Given the description of an element on the screen output the (x, y) to click on. 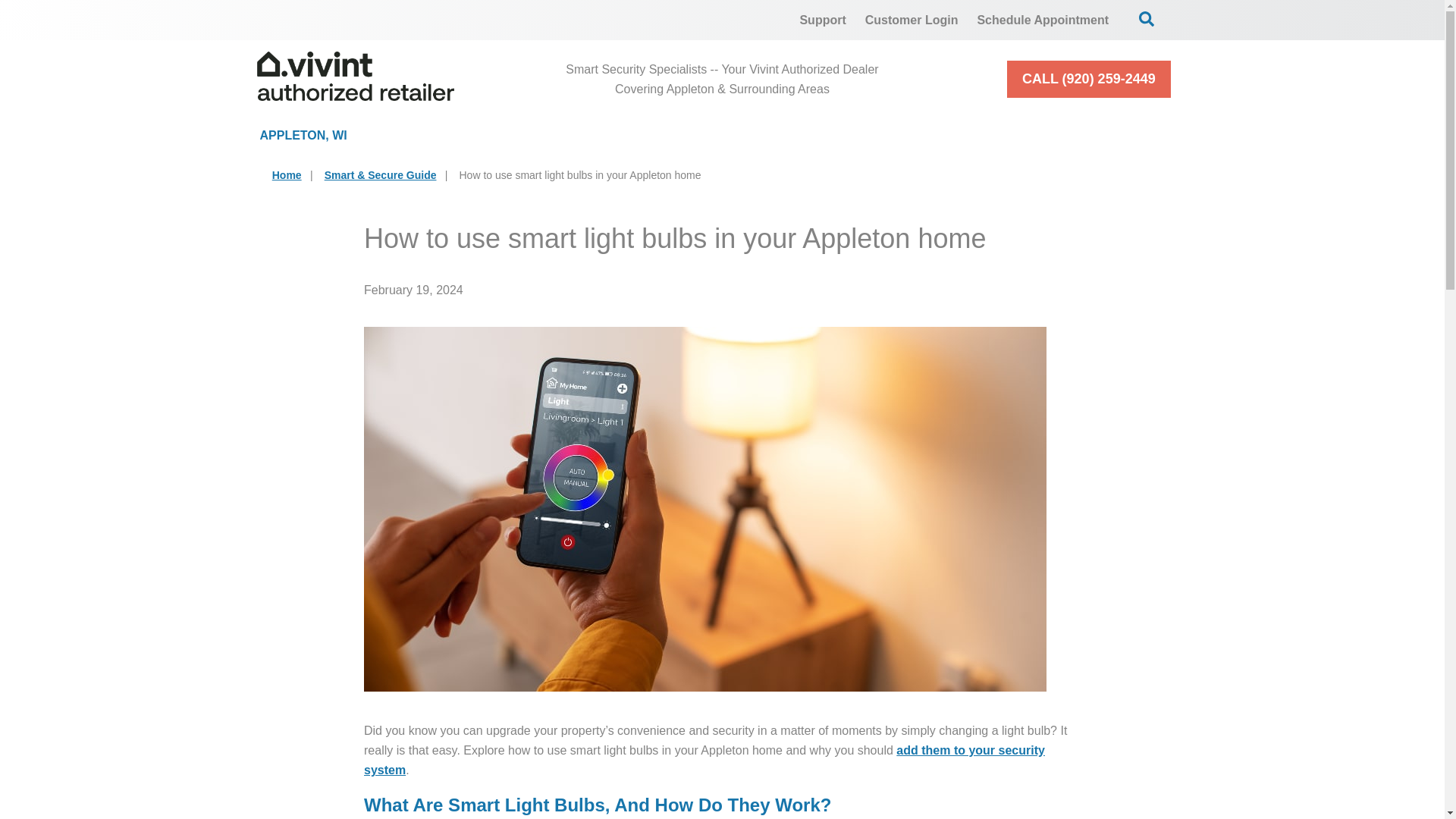
Customer Login (911, 20)
Home (286, 174)
Support (822, 20)
Schedule Appointment (1042, 20)
add them to your security system (704, 759)
Smart Home Automation (864, 135)
Home Security (488, 135)
Open Search (1146, 18)
Cameras (661, 135)
Incorporate smart lights into your security system (704, 759)
